Given the description of an element on the screen output the (x, y) to click on. 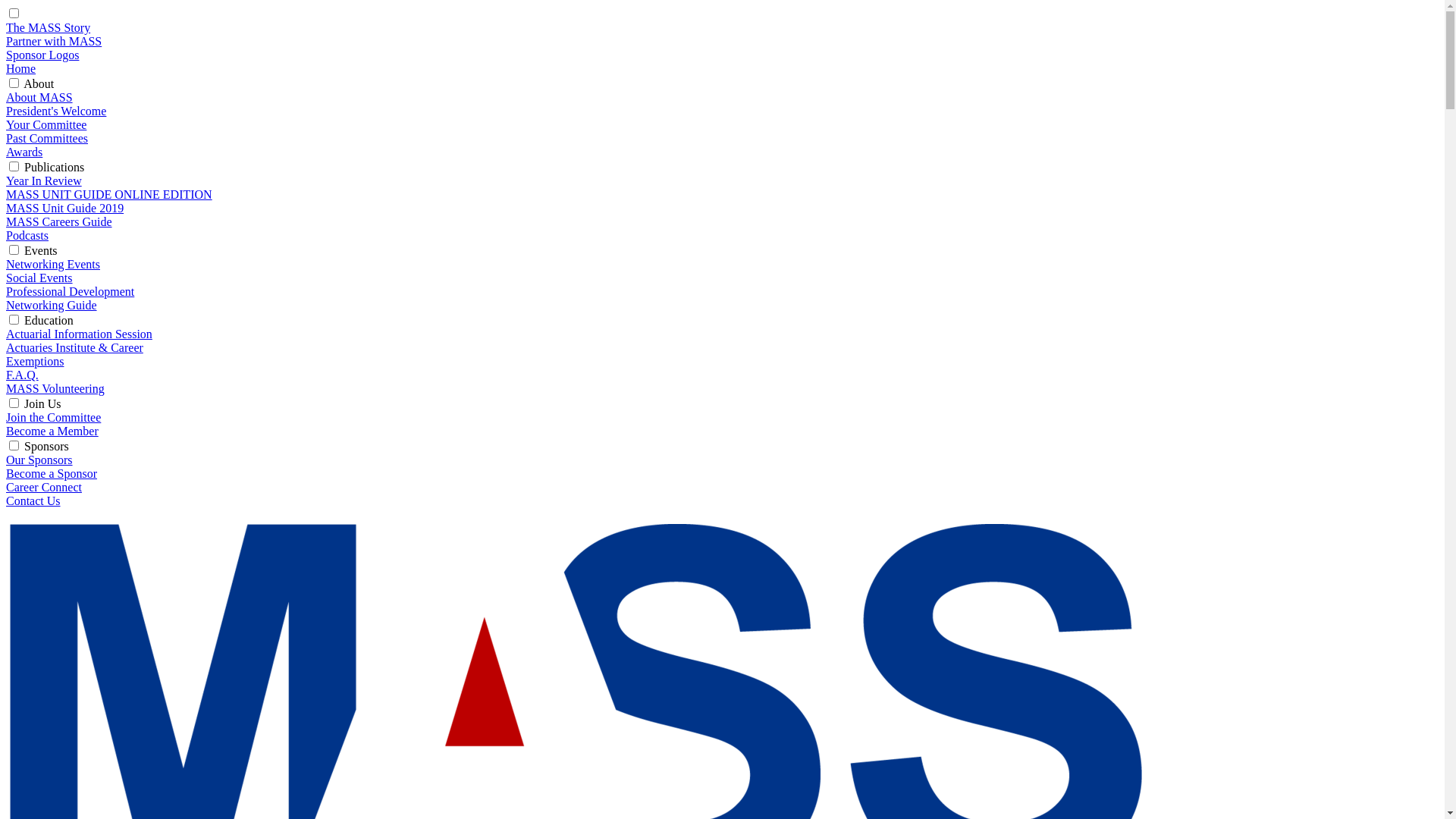
Home Element type: text (20, 68)
Events Element type: text (40, 250)
Podcasts Element type: text (27, 235)
Sponsors Element type: text (46, 445)
Exemptions Element type: text (34, 360)
President's Welcome Element type: text (56, 110)
MASS Unit Guide 2019 Element type: text (64, 207)
Professional Development Element type: text (70, 291)
About MASS Element type: text (39, 97)
Partner with MASS Element type: text (53, 40)
The MASS Story Element type: text (48, 27)
Education Element type: text (48, 319)
Social Events Element type: text (39, 277)
MASS Careers Guide Element type: text (59, 221)
Join Us Element type: text (42, 403)
Join the Committee Element type: text (53, 417)
Actuarial Information Session Element type: text (79, 333)
Actuaries Institute & Career Element type: text (74, 347)
Awards Element type: text (24, 151)
Networking Events Element type: text (53, 263)
Your Committee Element type: text (46, 124)
Past Committees Element type: text (46, 137)
Year In Review Element type: text (43, 180)
F.A.Q. Element type: text (22, 374)
Contact Us Element type: text (33, 500)
Become a Member Element type: text (52, 430)
Networking Guide Element type: text (51, 304)
About Element type: text (38, 83)
Career Connect Element type: text (43, 486)
MASS Volunteering Element type: text (55, 388)
MASS UNIT GUIDE ONLINE EDITION Element type: text (109, 194)
Our Sponsors Element type: text (39, 459)
Sponsor Logos Element type: text (42, 54)
Publications Element type: text (54, 166)
Become a Sponsor Element type: text (51, 473)
